Given the description of an element on the screen output the (x, y) to click on. 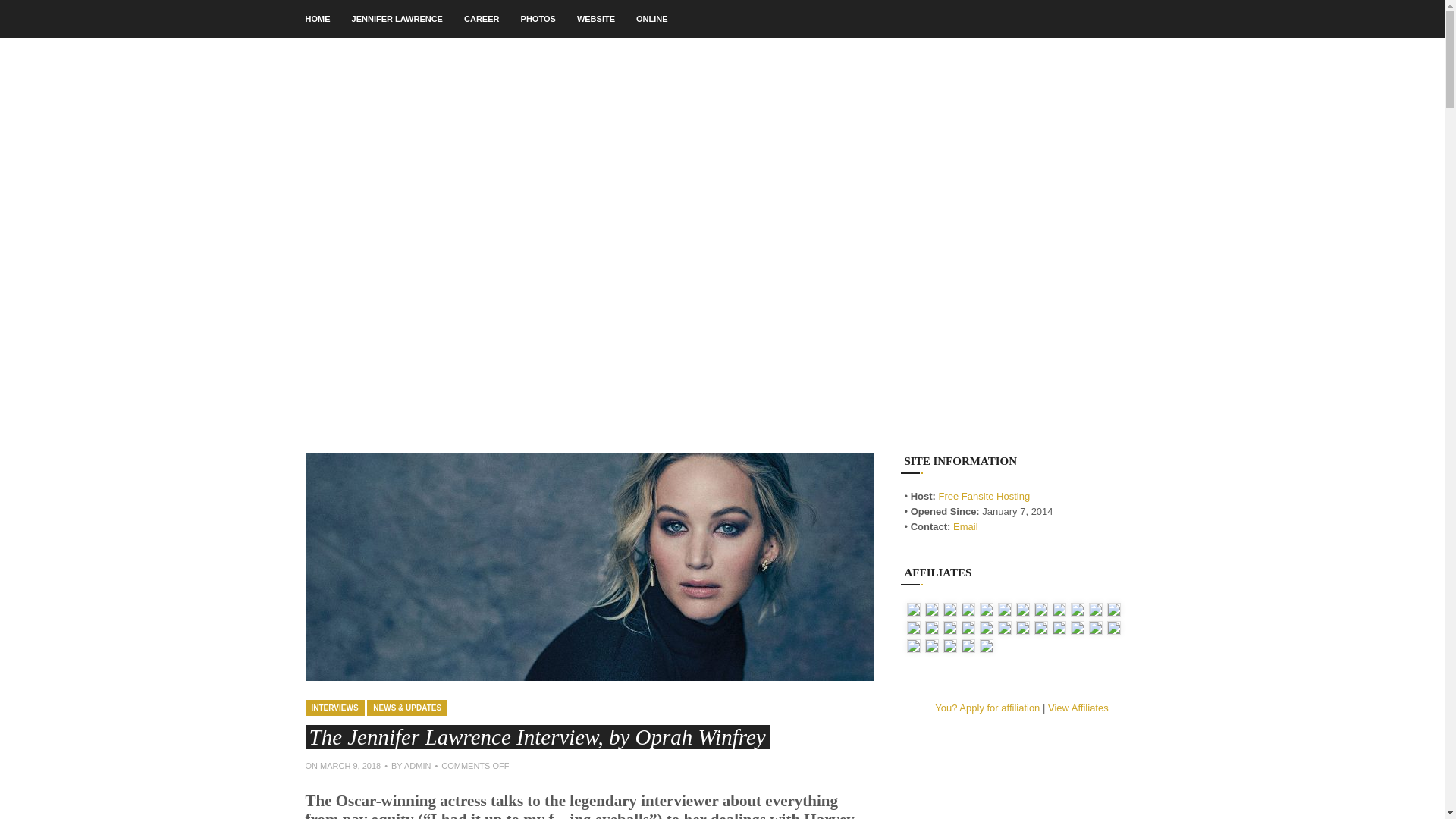
Free Fansite Hosting (984, 496)
INTERVIEWS (334, 707)
PHOTOS (538, 18)
ADMIN (417, 765)
CAREER (481, 18)
Email (965, 526)
WEBSITE (595, 18)
JENNIFER LAWRENCE (397, 18)
